Given the description of an element on the screen output the (x, y) to click on. 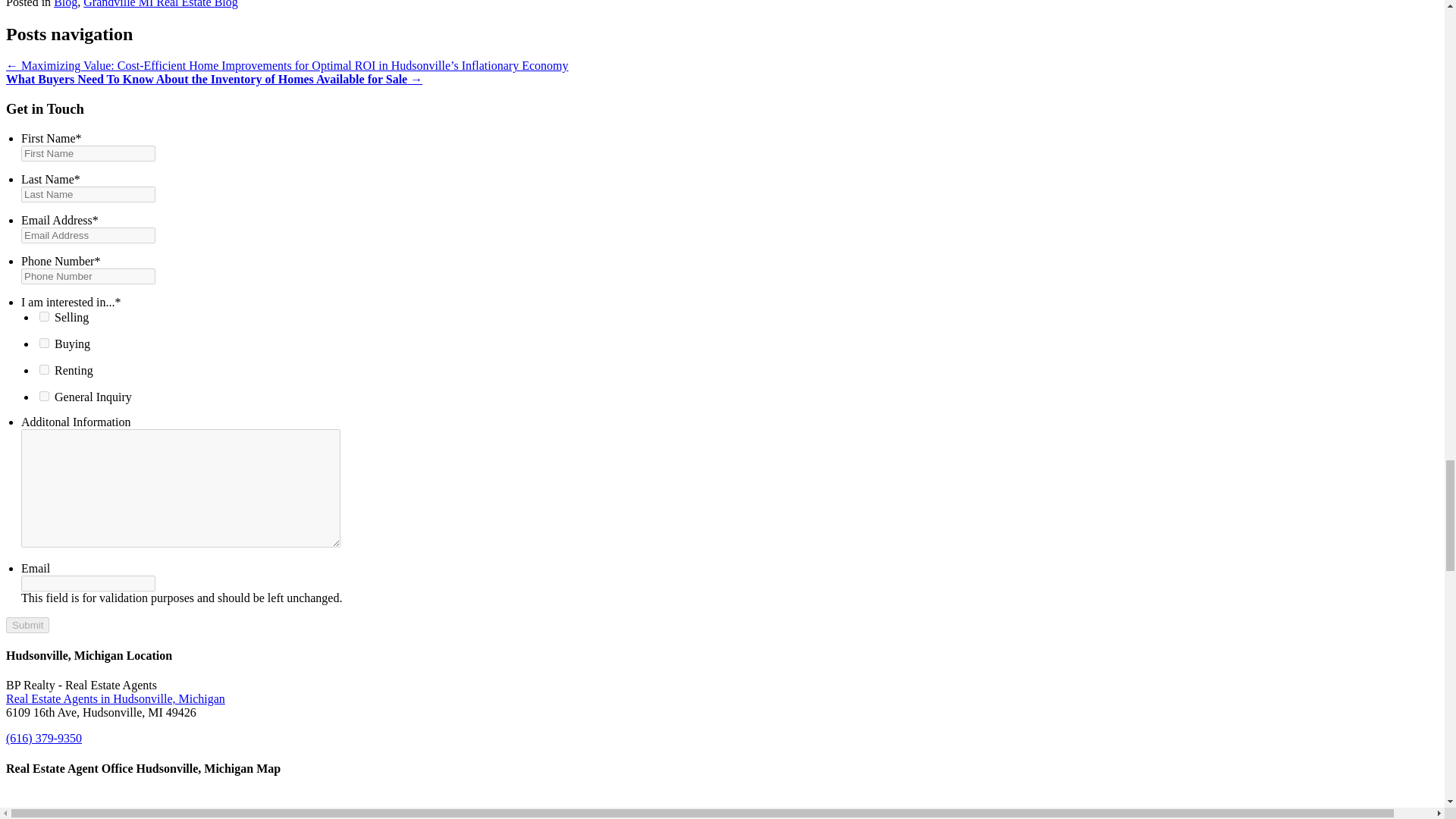
Submit (27, 625)
Buying (44, 343)
Renting (44, 369)
Selling (44, 316)
General Inquiry (44, 396)
